Given the description of an element on the screen output the (x, y) to click on. 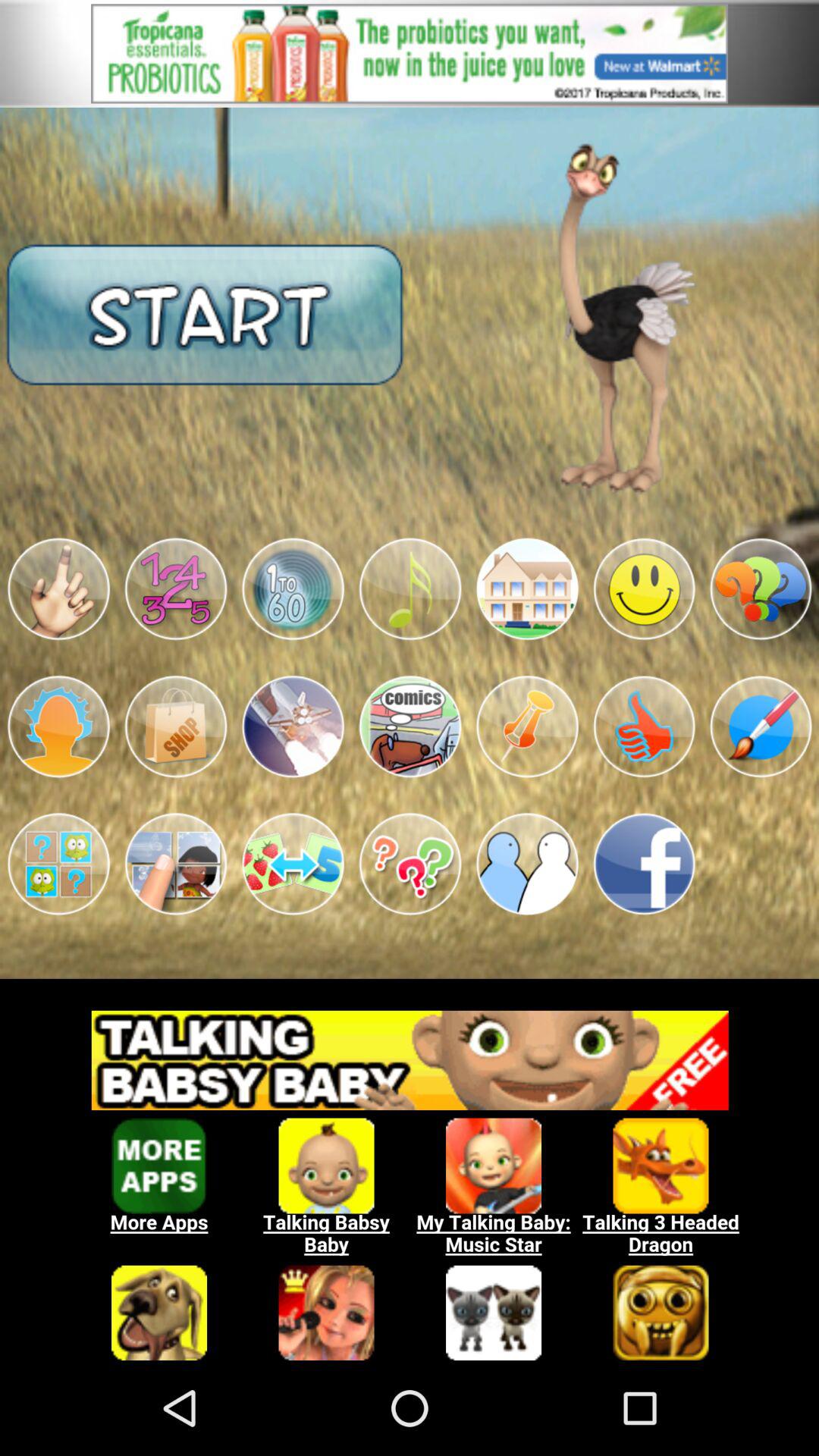
for emojis (175, 589)
